Given the description of an element on the screen output the (x, y) to click on. 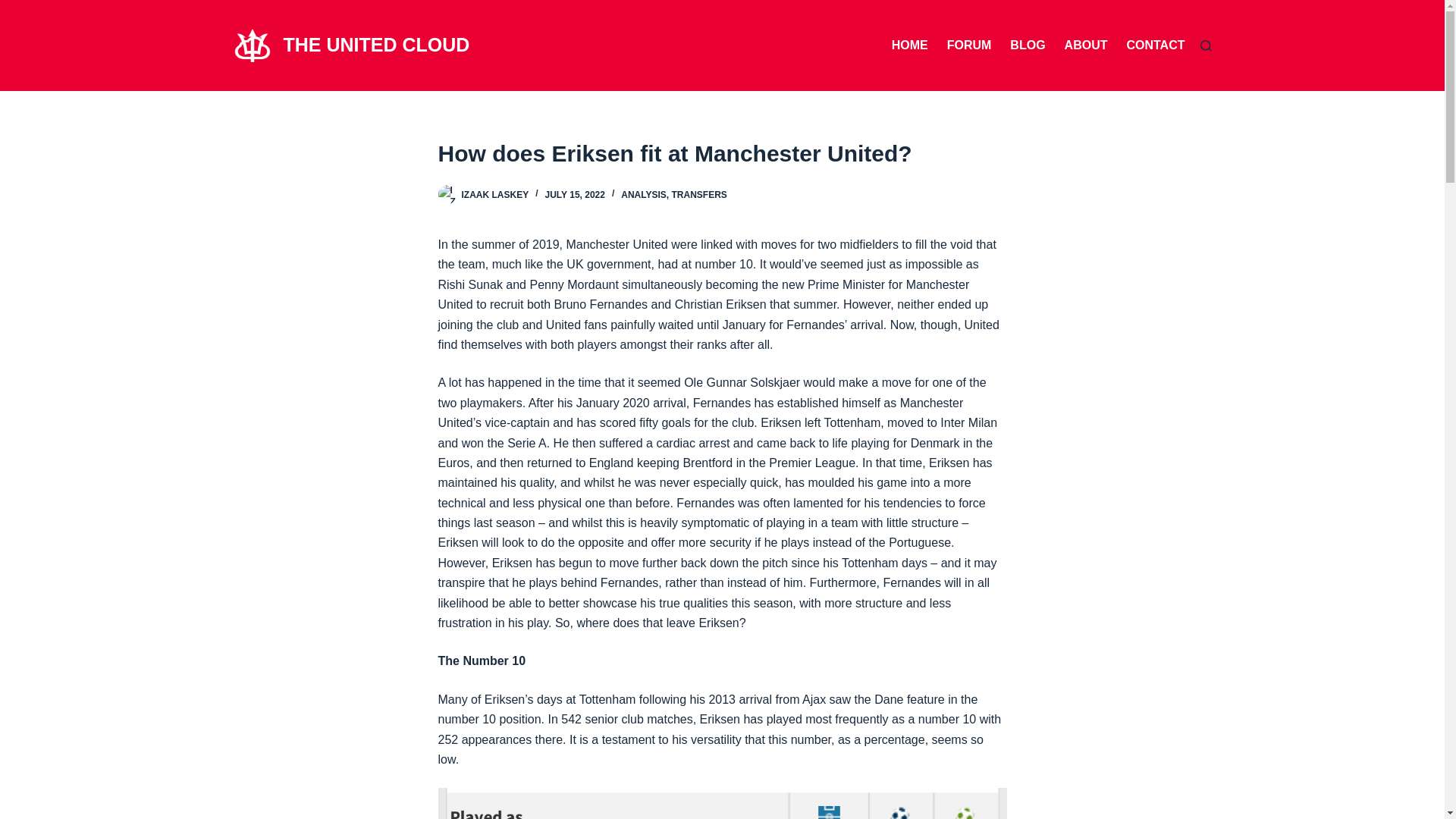
Skip to content (15, 7)
TRANSFERS (698, 194)
THE UNITED CLOUD (376, 44)
Posts by Izaak Laskey (494, 194)
IZAAK LASKEY (494, 194)
How does Eriksen fit at Manchester United? (722, 153)
ANALYSIS (643, 194)
